Given the description of an element on the screen output the (x, y) to click on. 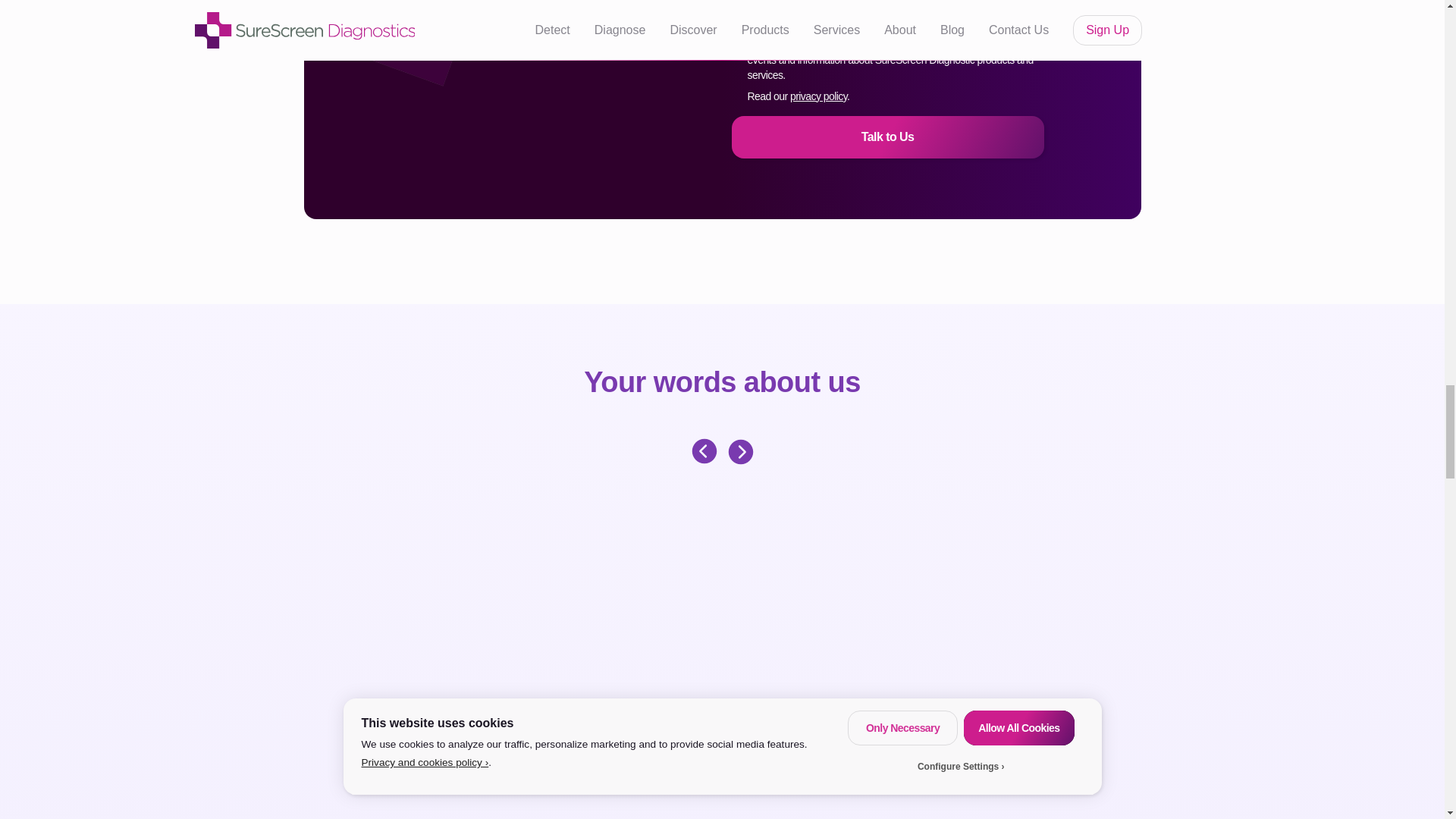
checked (735, 29)
